Given the description of an element on the screen output the (x, y) to click on. 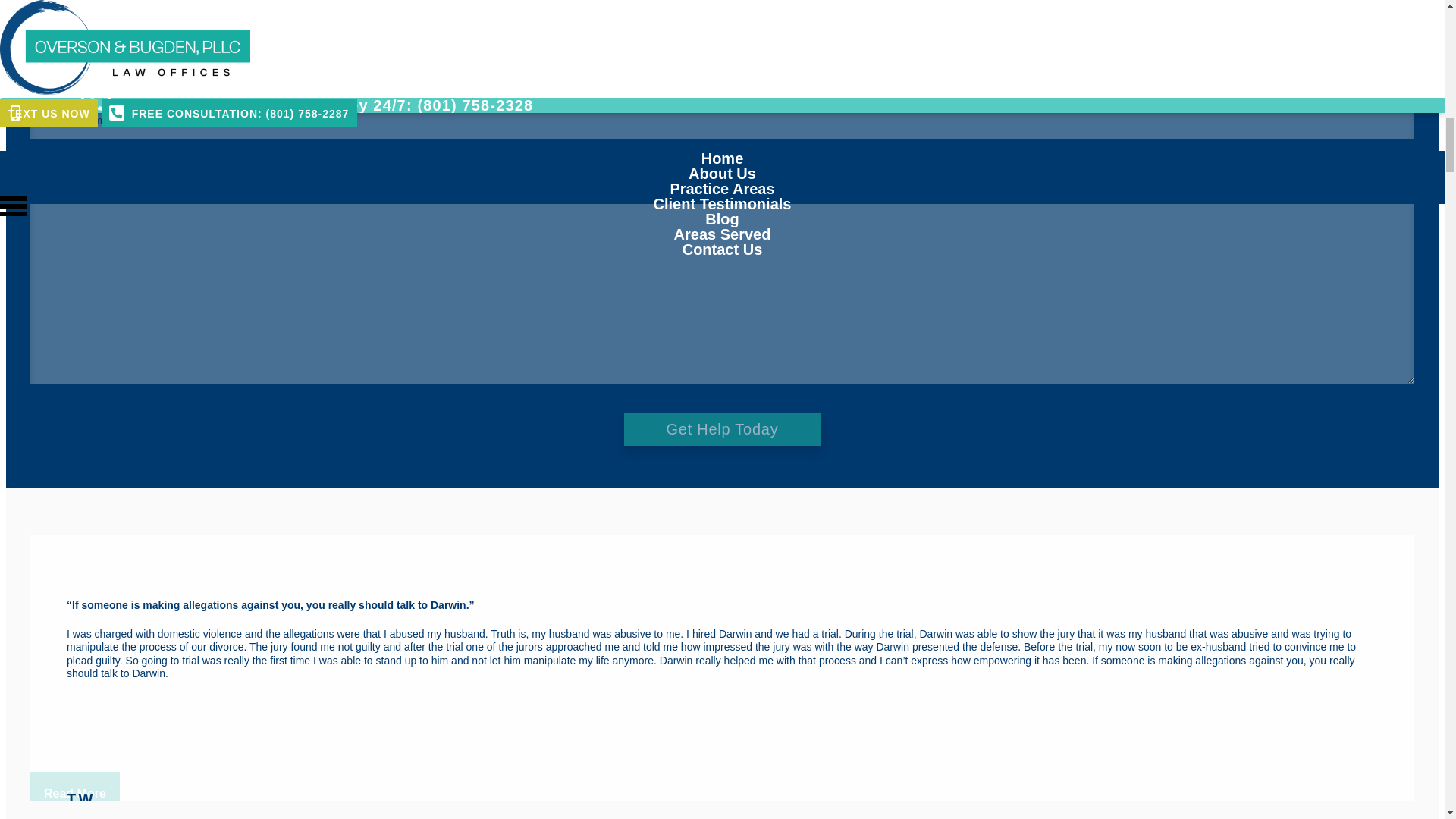
Get Help Today (722, 429)
